Given the description of an element on the screen output the (x, y) to click on. 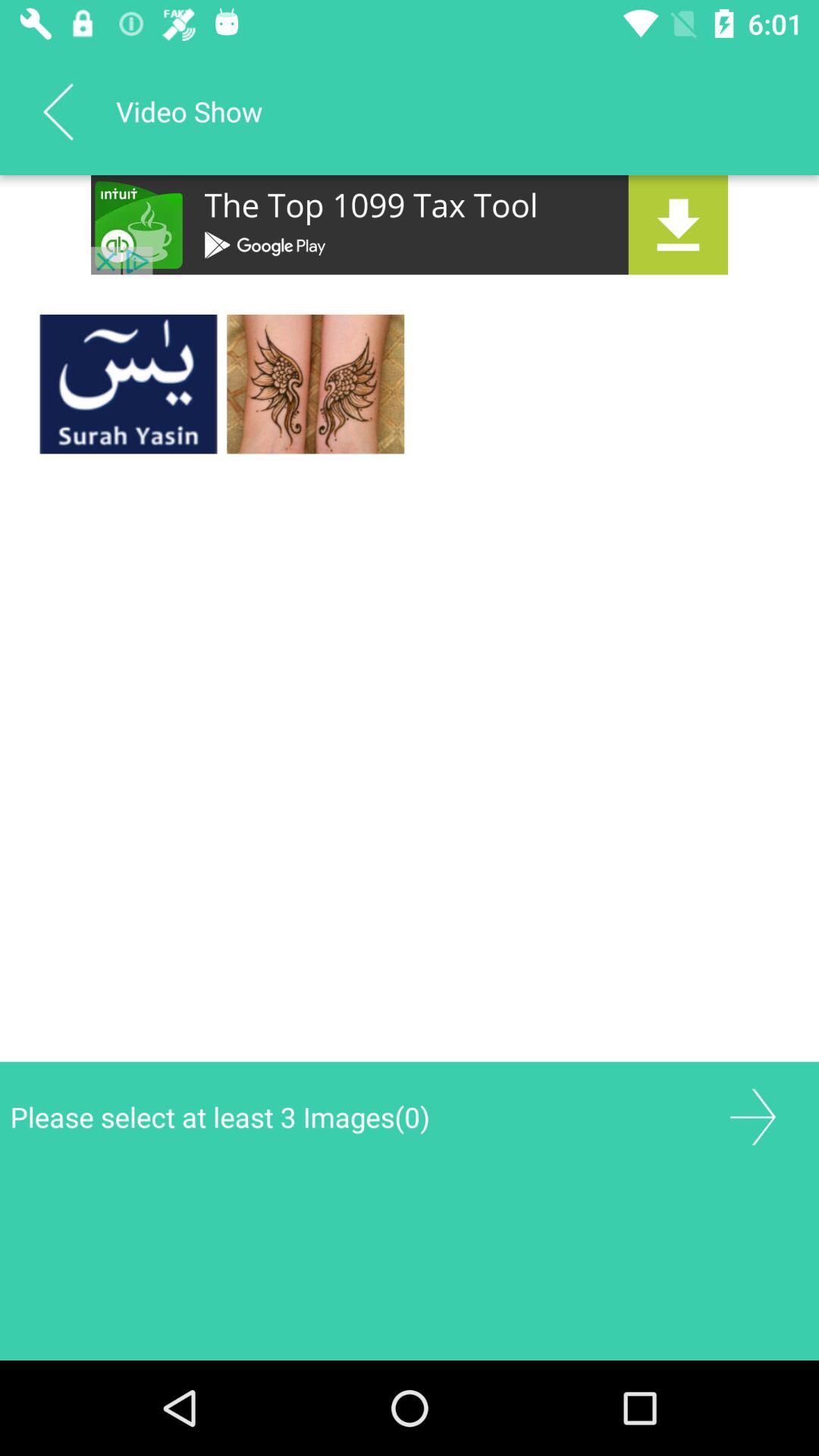
app advertisement (409, 224)
